Given the description of an element on the screen output the (x, y) to click on. 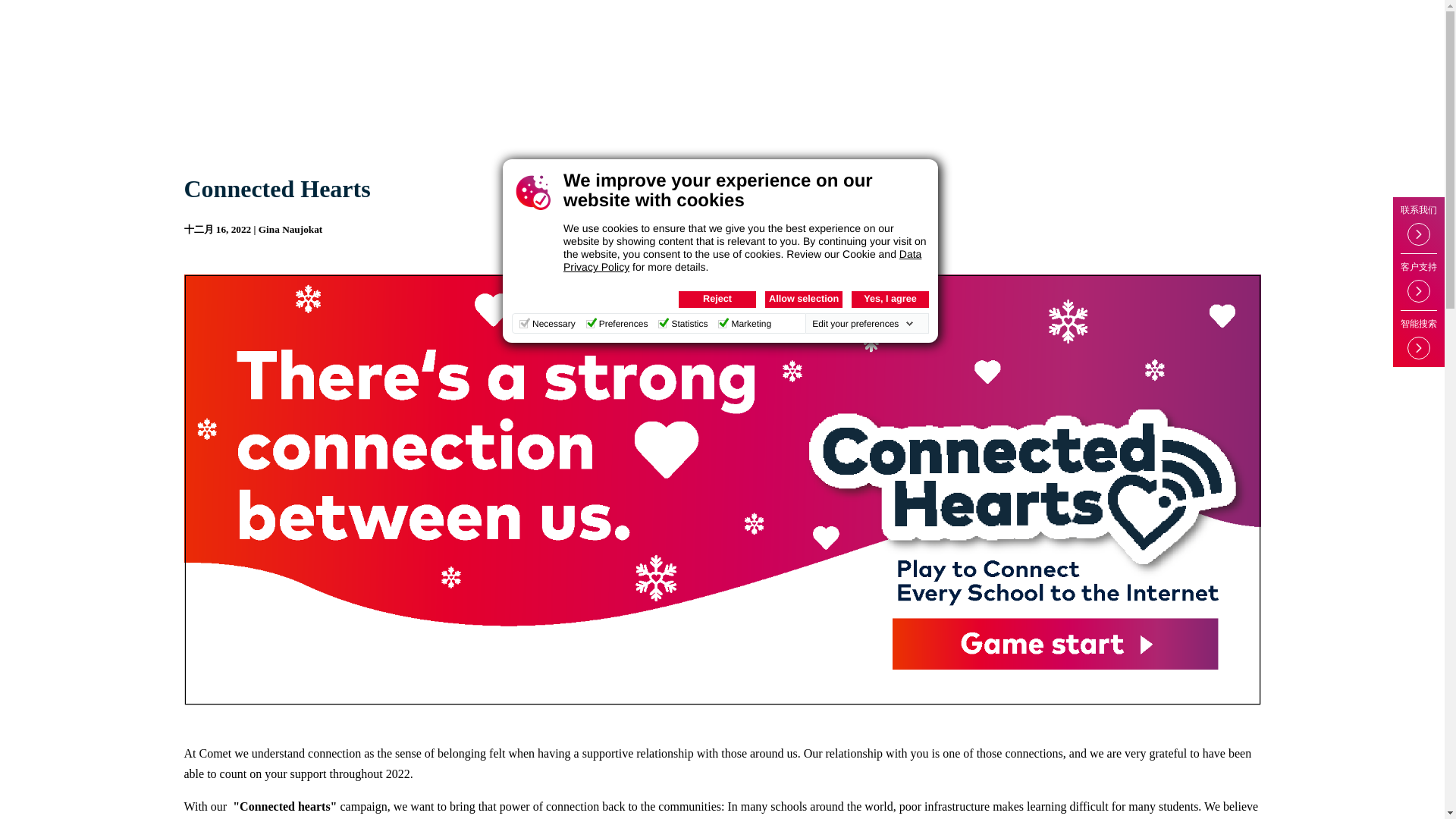
Allow selection (804, 299)
Yes, I agree (889, 299)
Data Privacy Policy (742, 260)
Reject (716, 299)
Edit your preferences (863, 323)
